Given the description of an element on the screen output the (x, y) to click on. 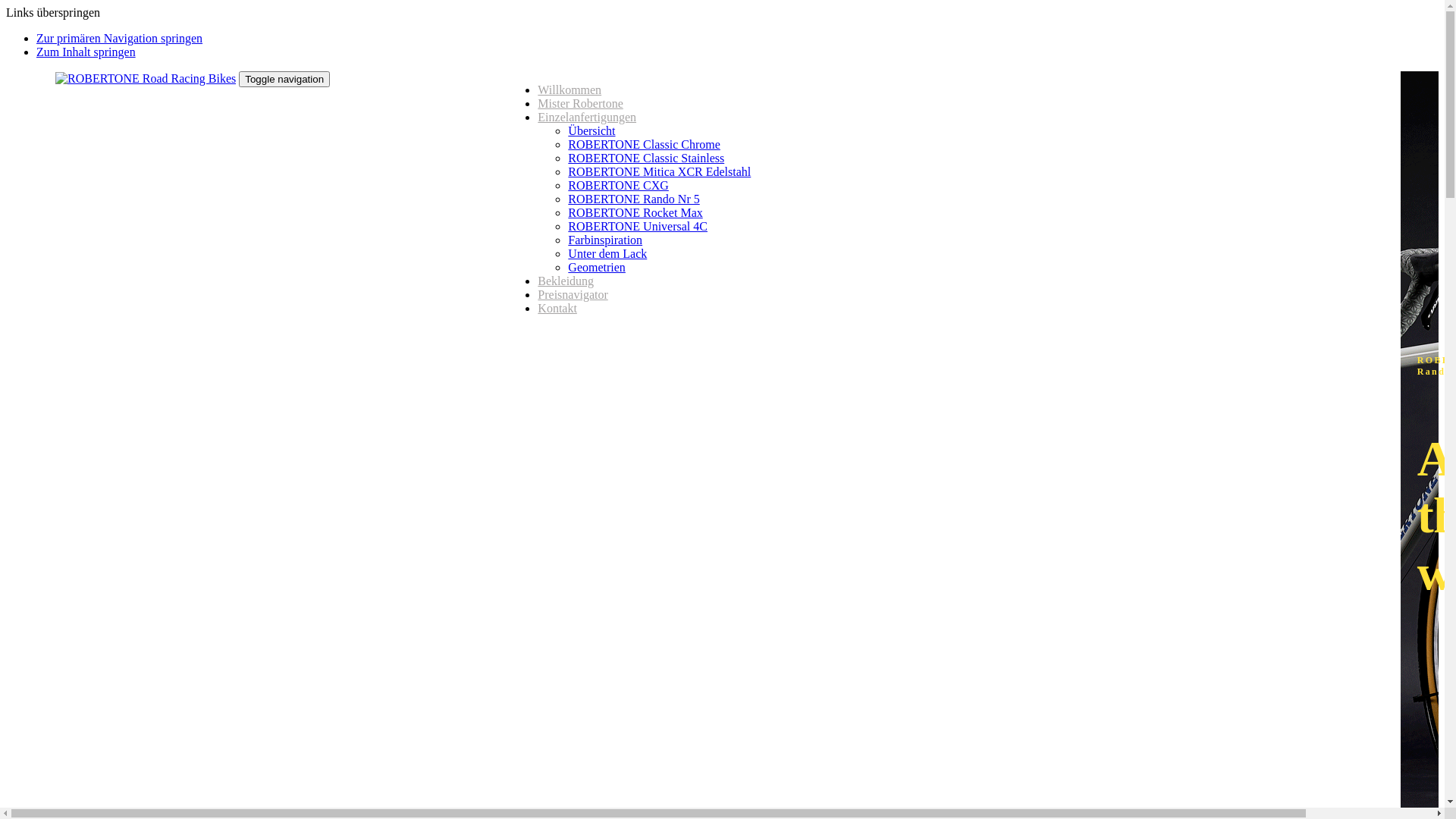
Zum Inhalt springen Element type: text (85, 51)
Toggle navigation Element type: text (283, 79)
Mister Robertone Element type: text (579, 103)
Willkommen Element type: text (569, 89)
Farbinspiration Element type: text (604, 239)
Preisnavigator Element type: text (572, 294)
ROBERTONE Rocket Max Element type: text (634, 212)
Unter dem Lack Element type: text (606, 253)
ROBERTONE Classic Stainless Element type: text (645, 157)
ROBERTONE CXG Element type: text (617, 184)
Bekleidung Element type: text (565, 280)
Einzelanfertigungen Element type: text (586, 116)
Kontakt Element type: text (557, 307)
ROBERTONE Classic Chrome Element type: text (643, 144)
Geometrien Element type: text (596, 266)
ROBERTONE Universal 4C Element type: text (637, 225)
ROBERTONE Mitica XCR Edelstahl Element type: text (658, 171)
ROBERTONE Rando Nr 5 Element type: text (633, 198)
